Given the description of an element on the screen output the (x, y) to click on. 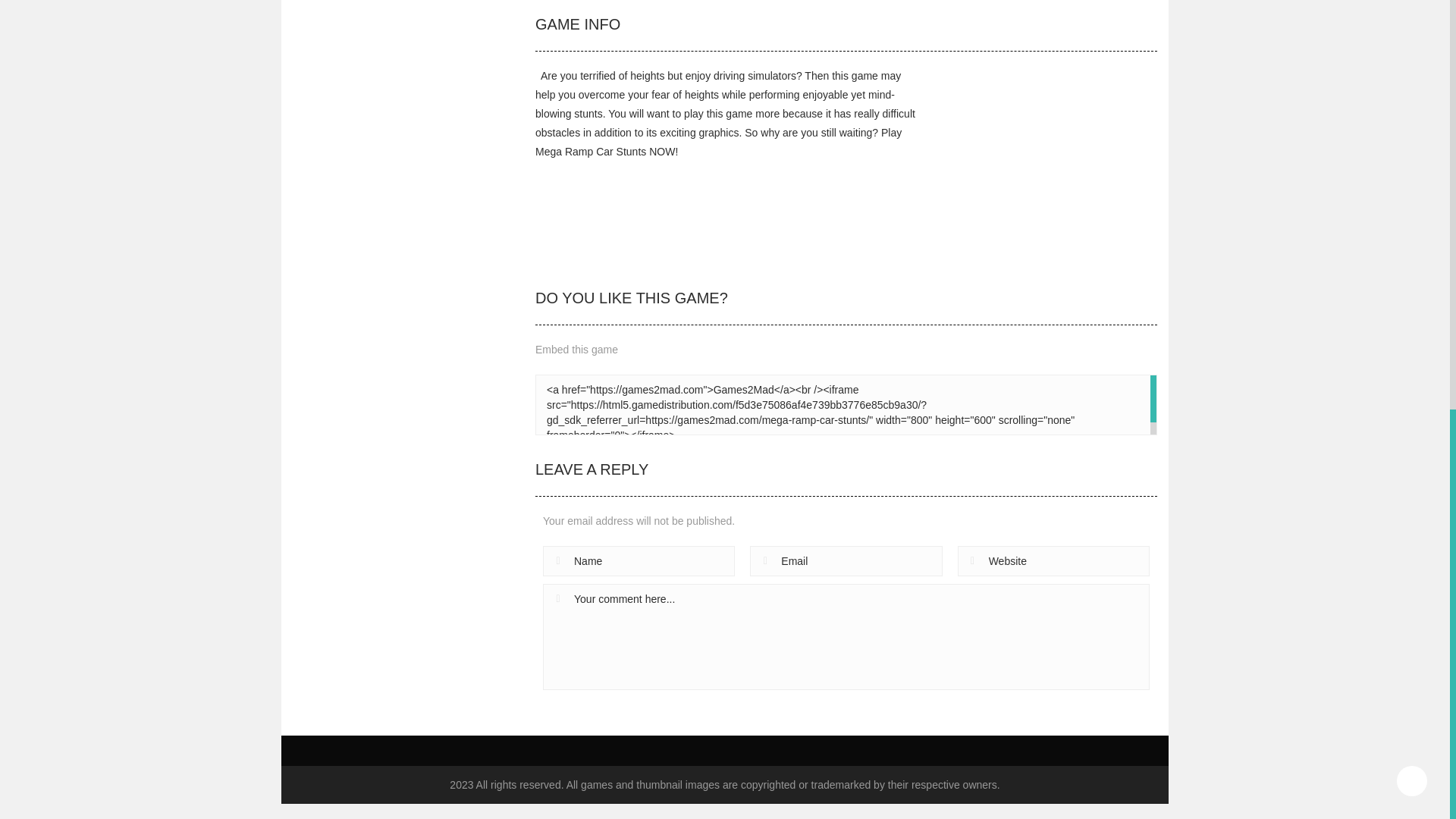
Post Comment (597, 705)
Post Comment (597, 705)
